Given the description of an element on the screen output the (x, y) to click on. 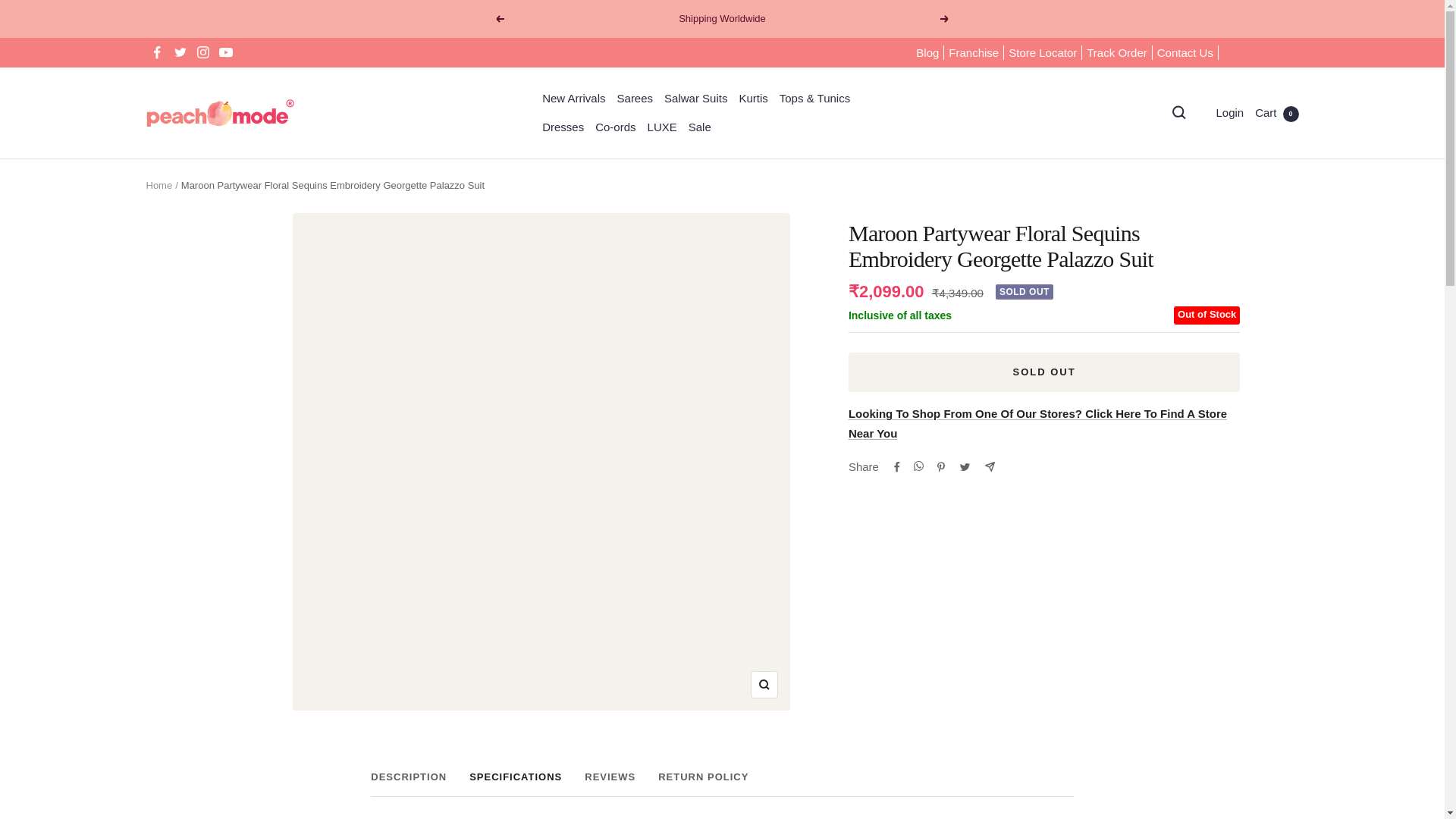
IT (1201, 455)
AU (1201, 104)
IN (1201, 379)
IE (1201, 404)
Peachmode Stores (1037, 423)
MY (1201, 529)
SA (1201, 730)
MU (1201, 555)
NL (1201, 579)
